Given the description of an element on the screen output the (x, y) to click on. 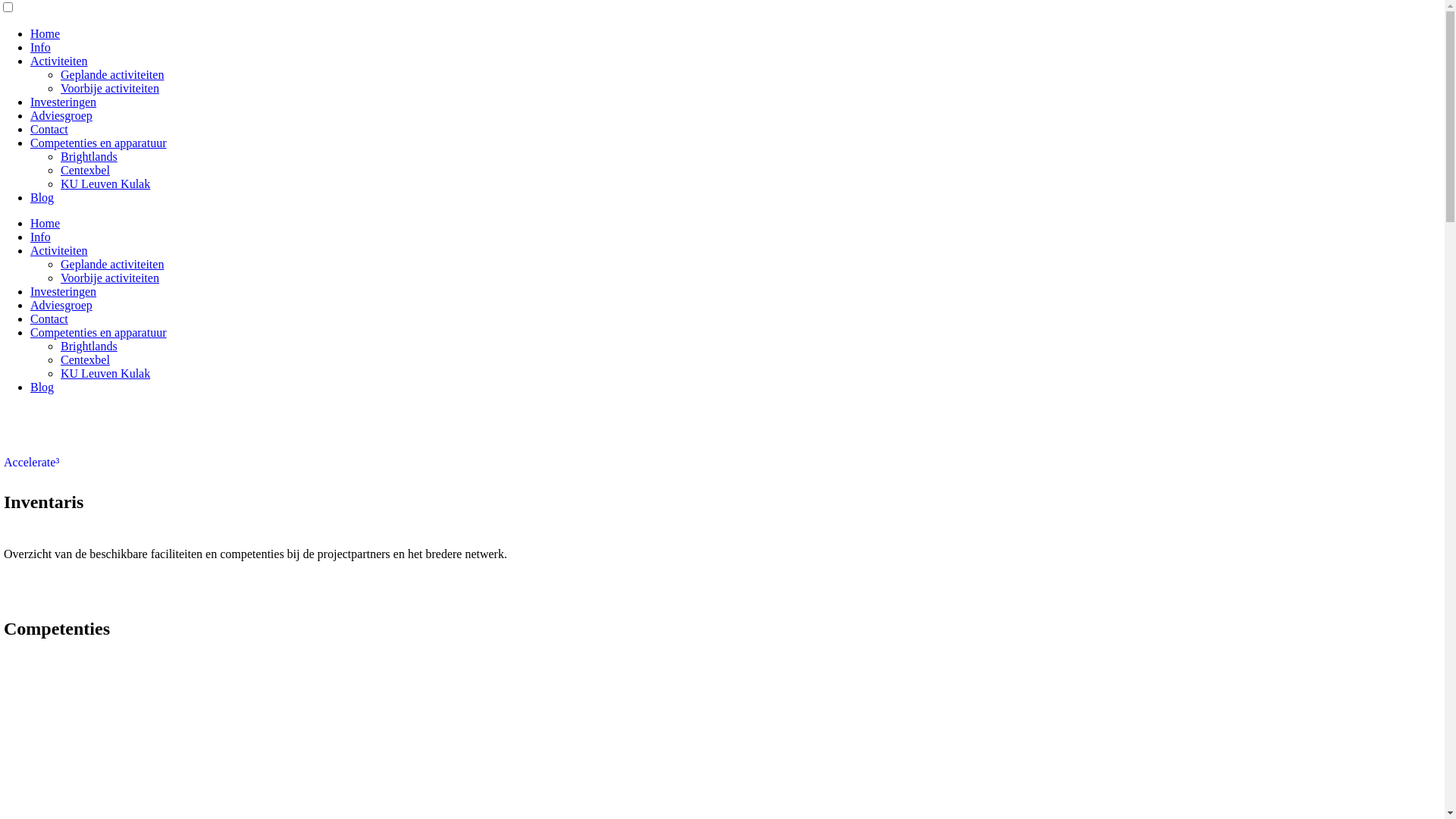
Brightlands Element type: text (88, 156)
Contact Element type: text (49, 318)
Voorbije activiteiten Element type: text (109, 277)
Blog Element type: text (41, 197)
Contact Element type: text (49, 128)
KU Leuven Kulak Element type: text (105, 373)
Voorbije activiteiten Element type: text (109, 87)
Centexbel Element type: text (84, 359)
Home Element type: text (44, 222)
Adviesgroep Element type: text (61, 115)
Competenties en apparatuur Element type: text (98, 142)
Home Element type: text (44, 33)
KU Leuven Kulak Element type: text (105, 183)
Investeringen Element type: text (63, 291)
Centexbel Element type: text (84, 169)
Info Element type: text (40, 46)
Blog Element type: text (41, 386)
Investeringen Element type: text (63, 101)
Activiteiten Element type: text (58, 250)
Geplande activiteiten Element type: text (111, 74)
Info Element type: text (40, 236)
Adviesgroep Element type: text (61, 304)
Brightlands Element type: text (88, 345)
Competenties en apparatuur Element type: text (98, 332)
Activiteiten Element type: text (58, 60)
Geplande activiteiten Element type: text (111, 263)
